Given the description of an element on the screen output the (x, y) to click on. 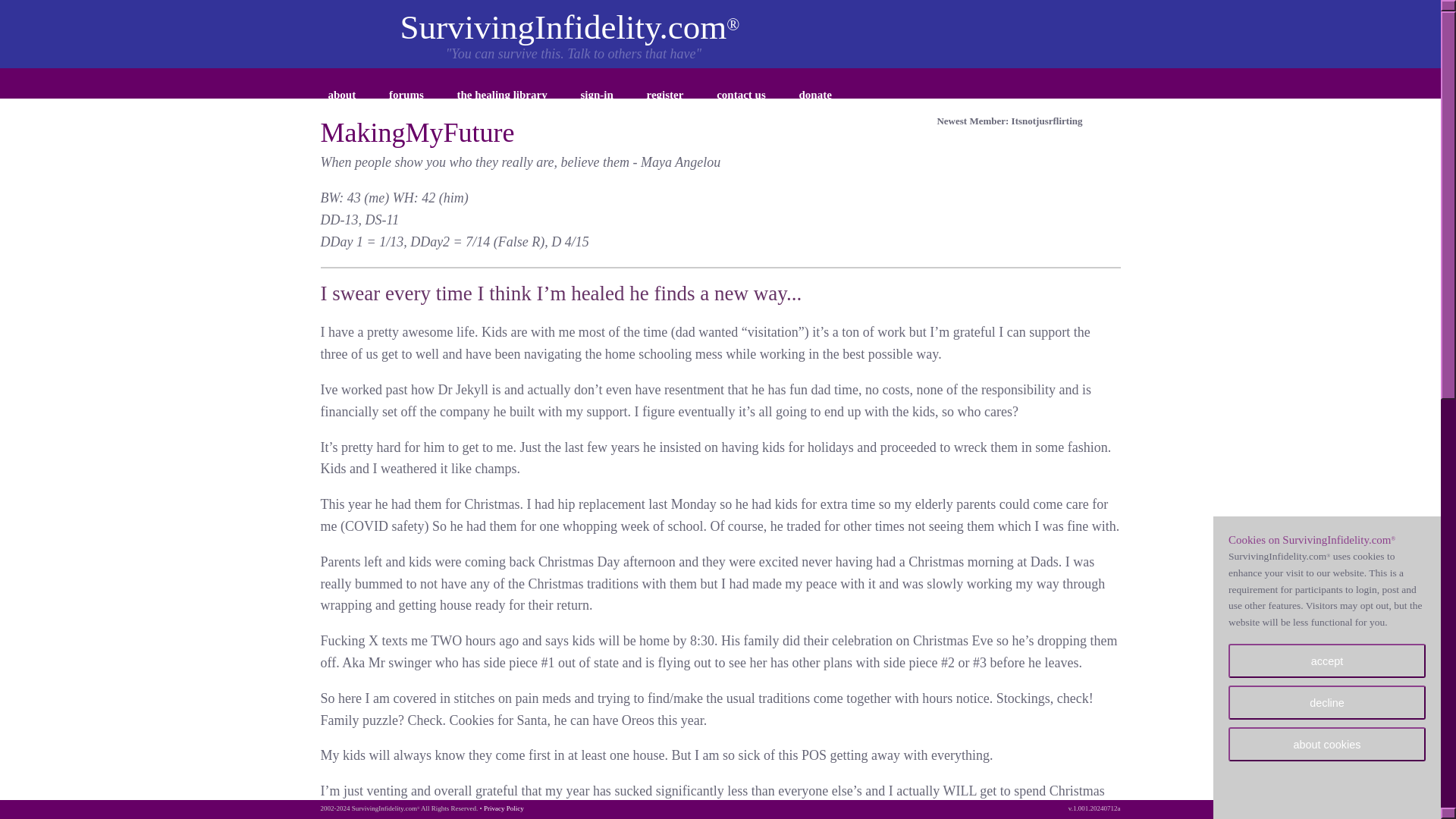
contact us (741, 96)
sign-in (596, 96)
register (665, 96)
donate (816, 96)
about (341, 96)
about cookies (1326, 744)
forums (405, 96)
the healing library (501, 96)
decline (1326, 702)
accept (1326, 660)
